Given the description of an element on the screen output the (x, y) to click on. 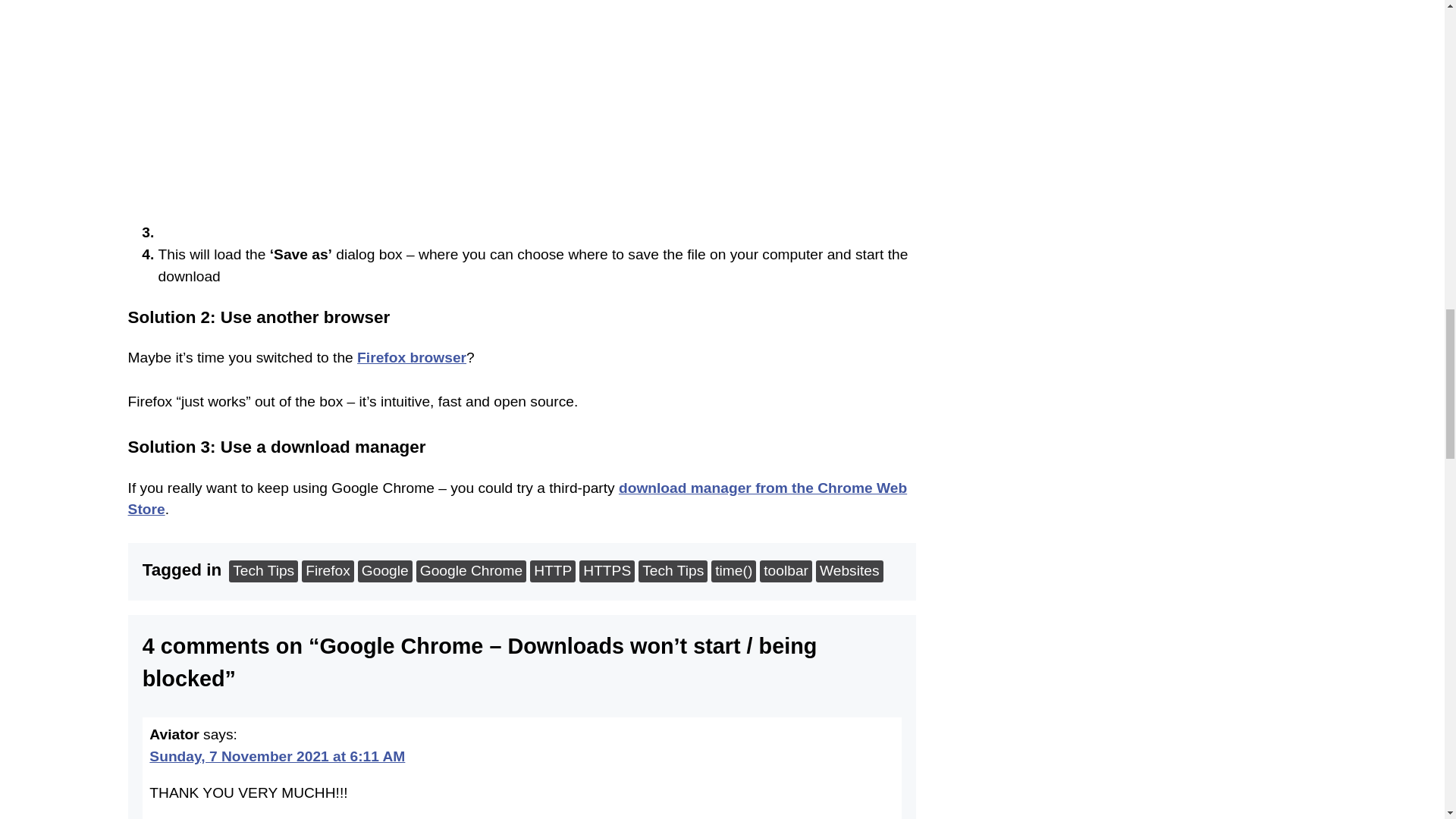
HTTPS (606, 571)
Websites (849, 571)
Sunday, 7 November 2021 at 6:11 AM (276, 754)
Tech Tips (263, 571)
Firefox browser (410, 355)
download manager from the Chrome Web Store (517, 496)
Firefox (327, 571)
Google Chrome (470, 571)
toolbar (786, 571)
Google (385, 571)
